Given the description of an element on the screen output the (x, y) to click on. 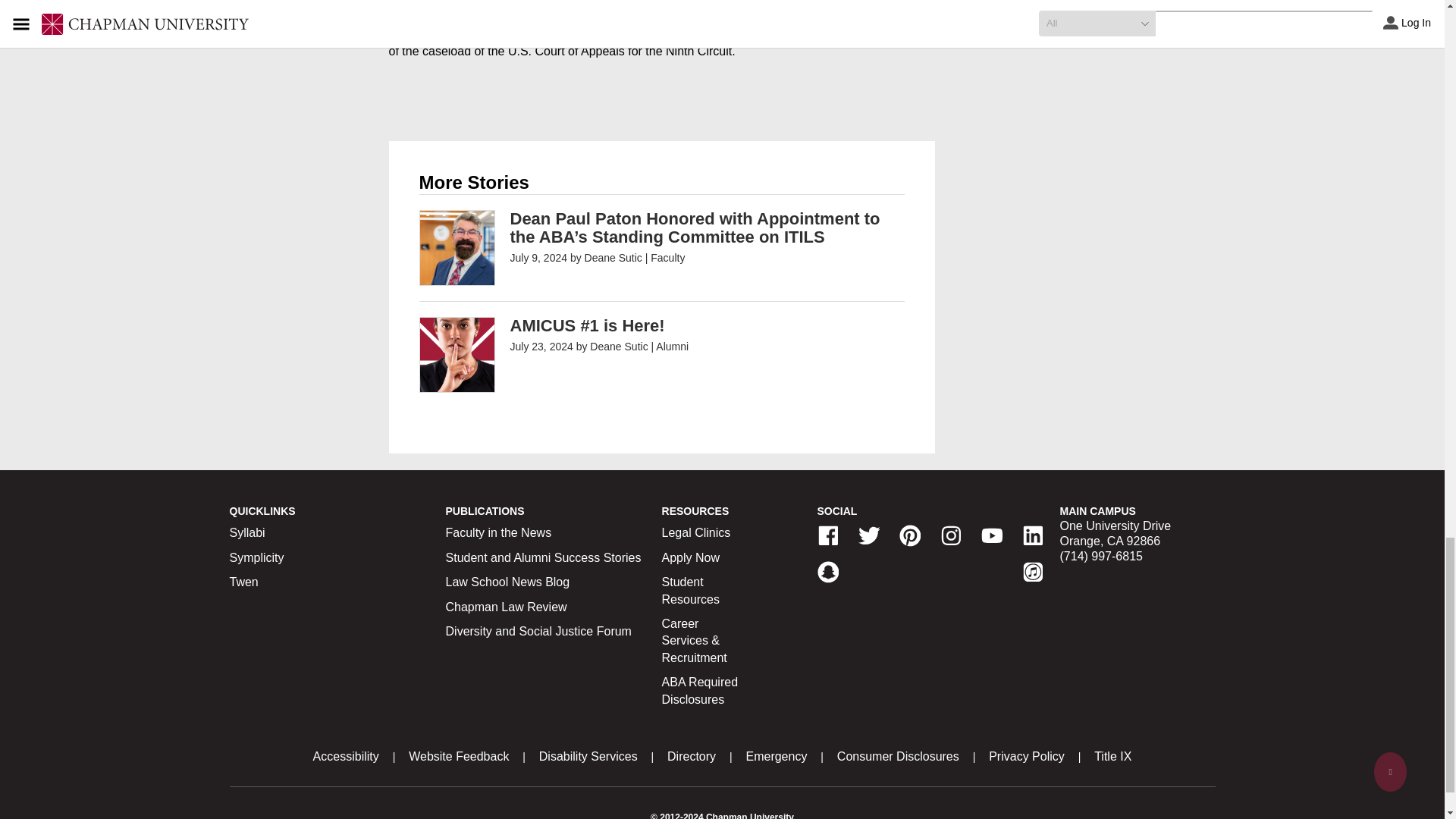
Law School News Blog (507, 581)
Chapman Law Review (506, 606)
Deane Sutic (613, 257)
Posts by Deane Sutic (613, 257)
Alumni (672, 346)
Faculty in the News (498, 532)
Symplicity (255, 557)
Deane Sutic (618, 346)
Diversity and Social Justice Forum (538, 631)
Twen (242, 581)
Student and Alumni Success Stories (543, 557)
Syllabi (246, 532)
Posts by Deane Sutic (618, 346)
Faculty (667, 257)
Legal Clinics (696, 532)
